Given the description of an element on the screen output the (x, y) to click on. 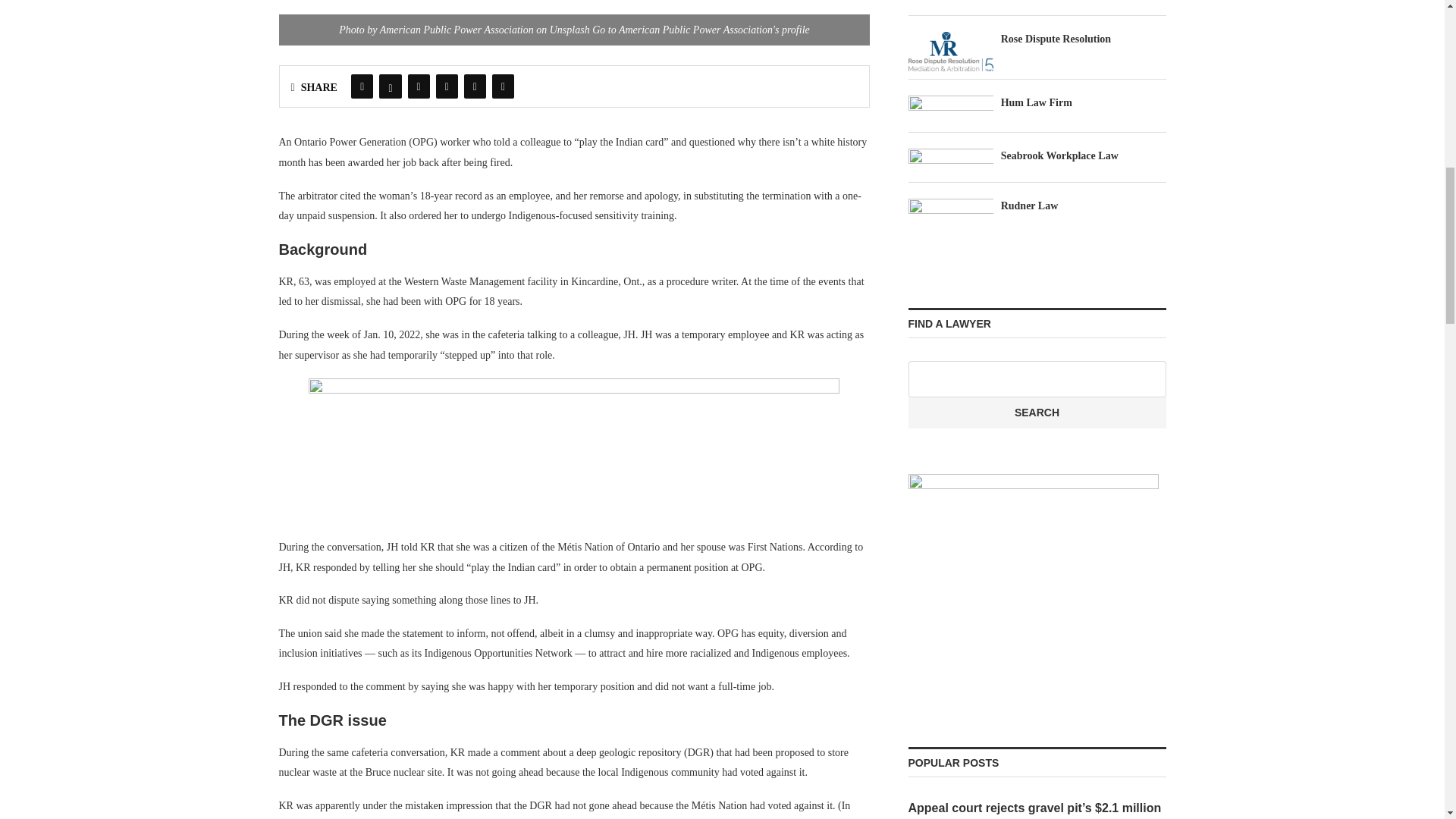
Search (1037, 412)
Powerline worker (574, 22)
Search (1037, 412)
